Given the description of an element on the screen output the (x, y) to click on. 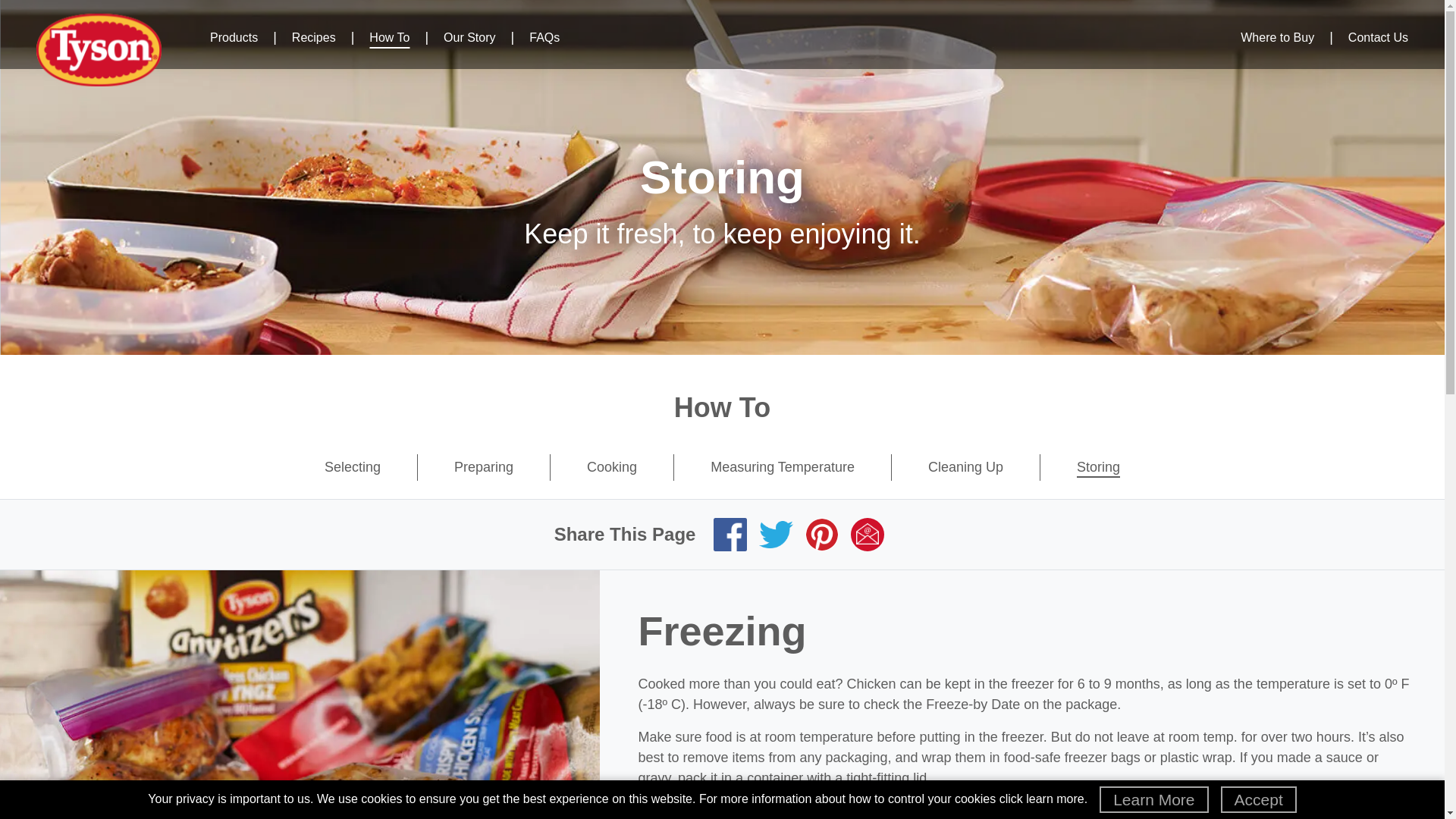
Our Story (469, 37)
Contact Us (1377, 37)
Storing (1098, 467)
Products (233, 37)
Cooking (611, 467)
FAQs (544, 37)
Preparing (483, 467)
Recipes (314, 37)
Measuring Temperature (782, 467)
Where to Buy (1277, 37)
